Given the description of an element on the screen output the (x, y) to click on. 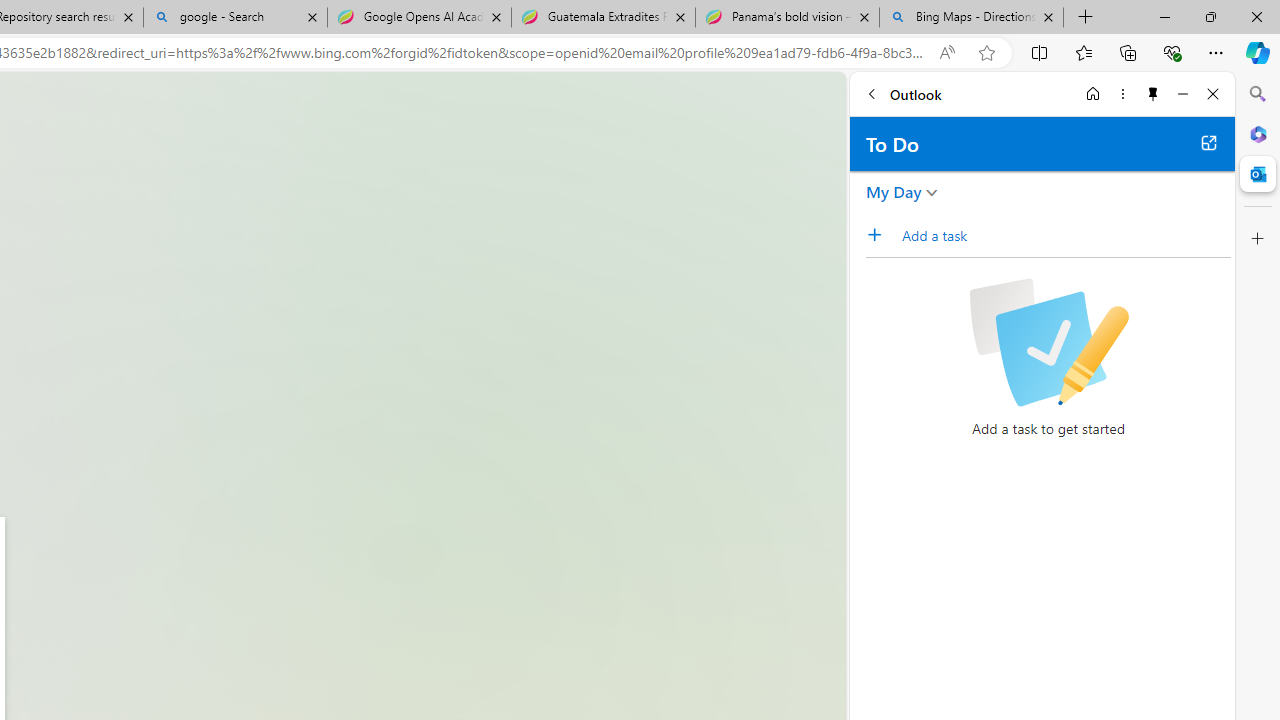
Add a task (881, 235)
Open in new tab (1208, 142)
Close Outlook pane (1258, 174)
google - Search (234, 17)
Google Opens AI Academy for Startups - Nearshore Americas (418, 17)
Unpin side pane (1153, 93)
